Given the description of an element on the screen output the (x, y) to click on. 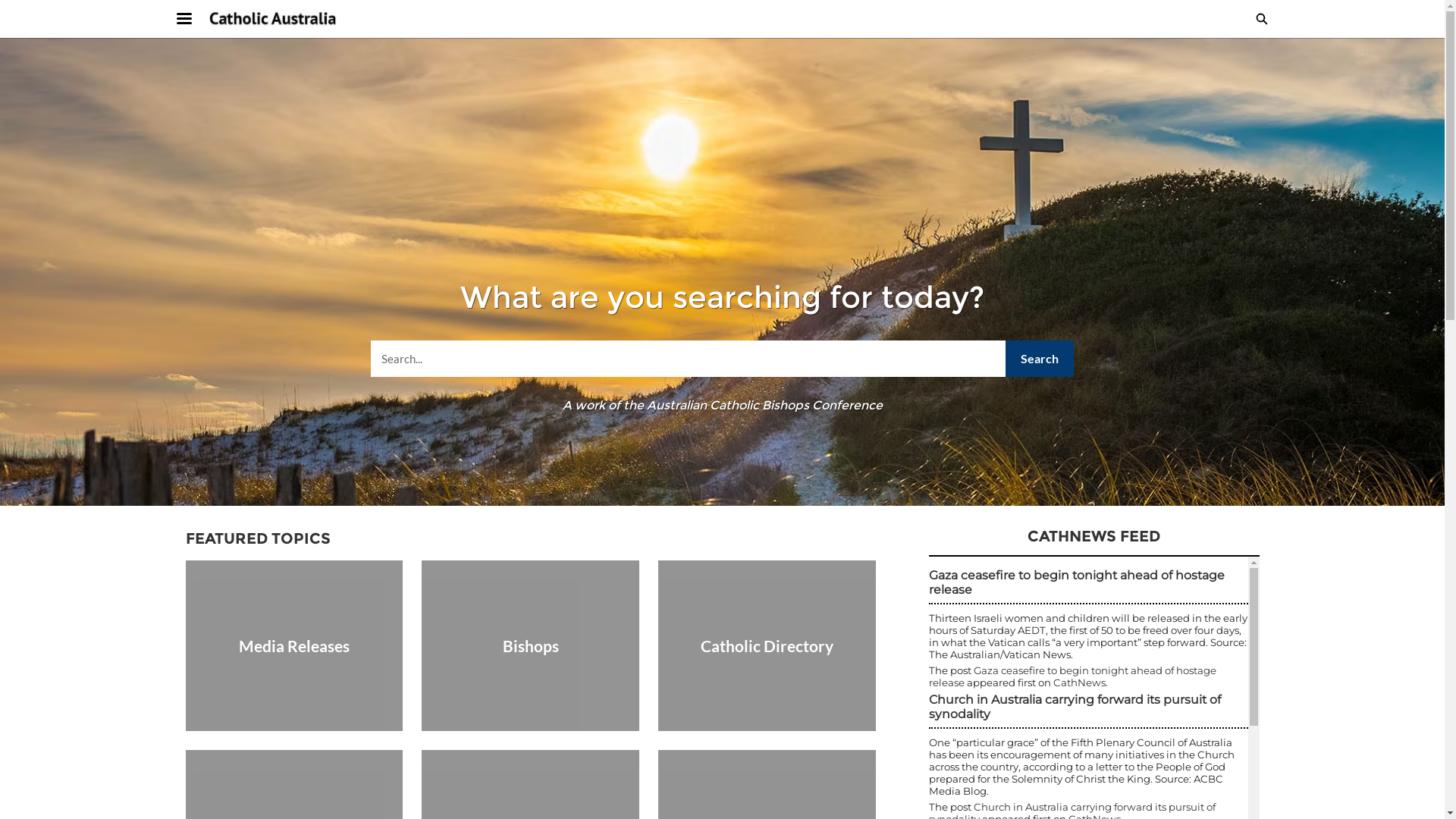
Media Releases Element type: text (293, 645)
Skip to Main Content Element type: text (9, 4)
Bishops Element type: text (530, 645)
Catholic Australia Element type: text (273, 19)
Navigation menu Element type: text (192, 18)
Expand search Element type: text (1260, 18)
Catholic Directory Element type: text (766, 645)
Search Element type: text (1039, 358)
